Given the description of an element on the screen output the (x, y) to click on. 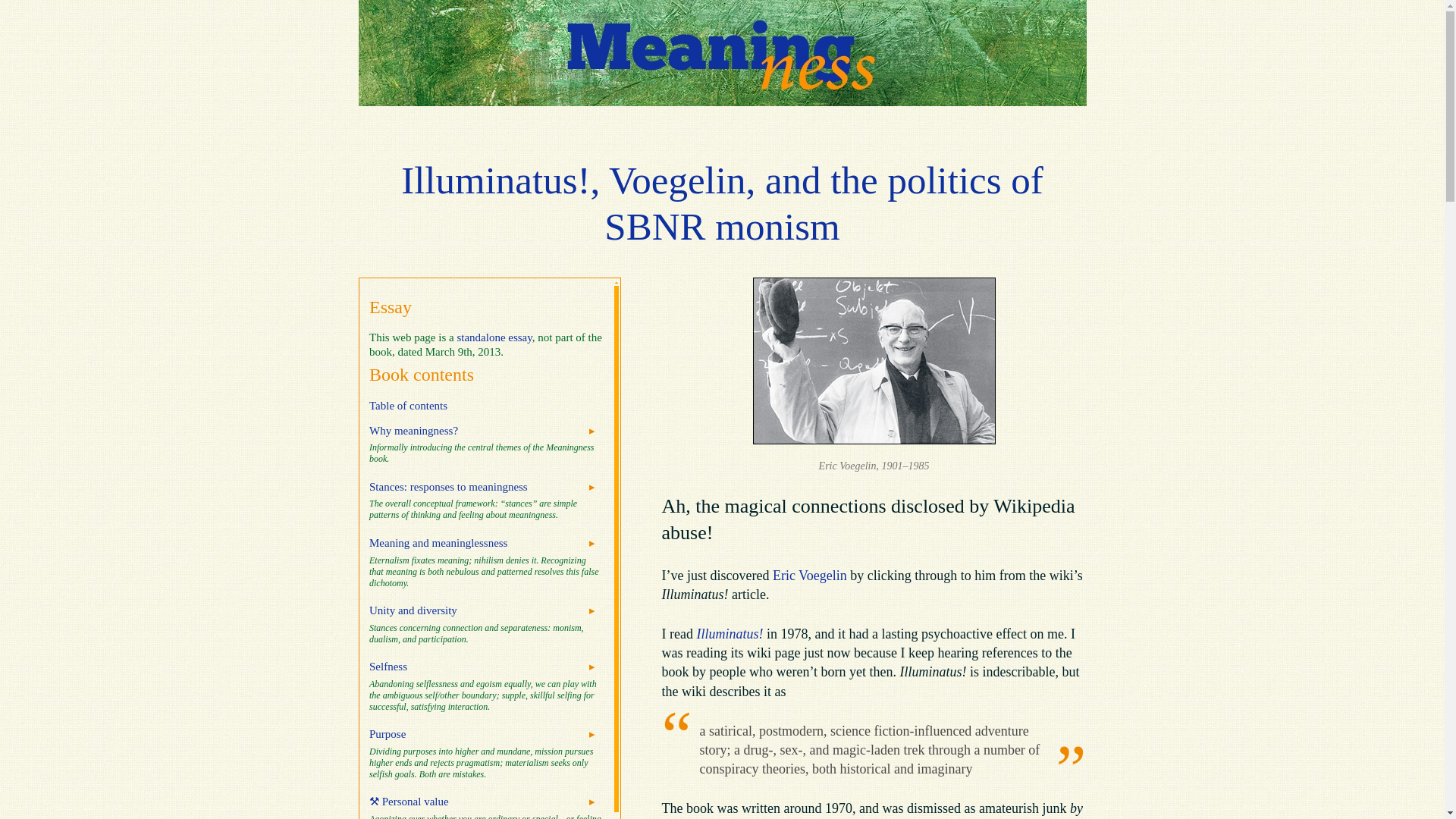
Why meaningness? (413, 430)
Table of contents (407, 405)
standalone essay (494, 337)
Stances: responses to meaningness (448, 486)
